Given the description of an element on the screen output the (x, y) to click on. 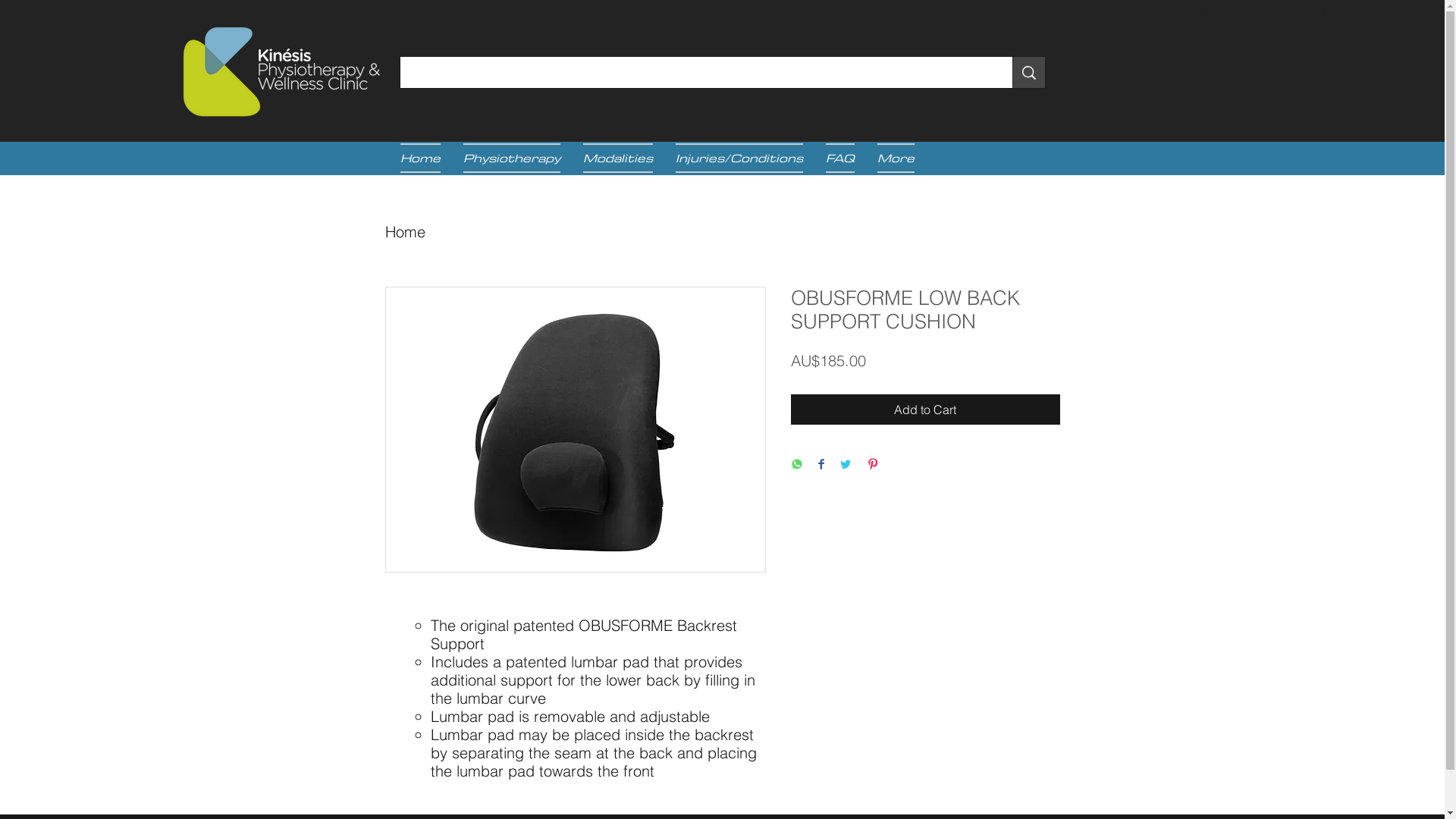
Physiotherapy Element type: text (511, 157)
Injuries/Conditions Element type: text (739, 157)
FAQ Element type: text (840, 157)
Add to Cart Element type: text (924, 409)
Home Element type: text (425, 157)
Home Element type: text (405, 231)
